Given the description of an element on the screen output the (x, y) to click on. 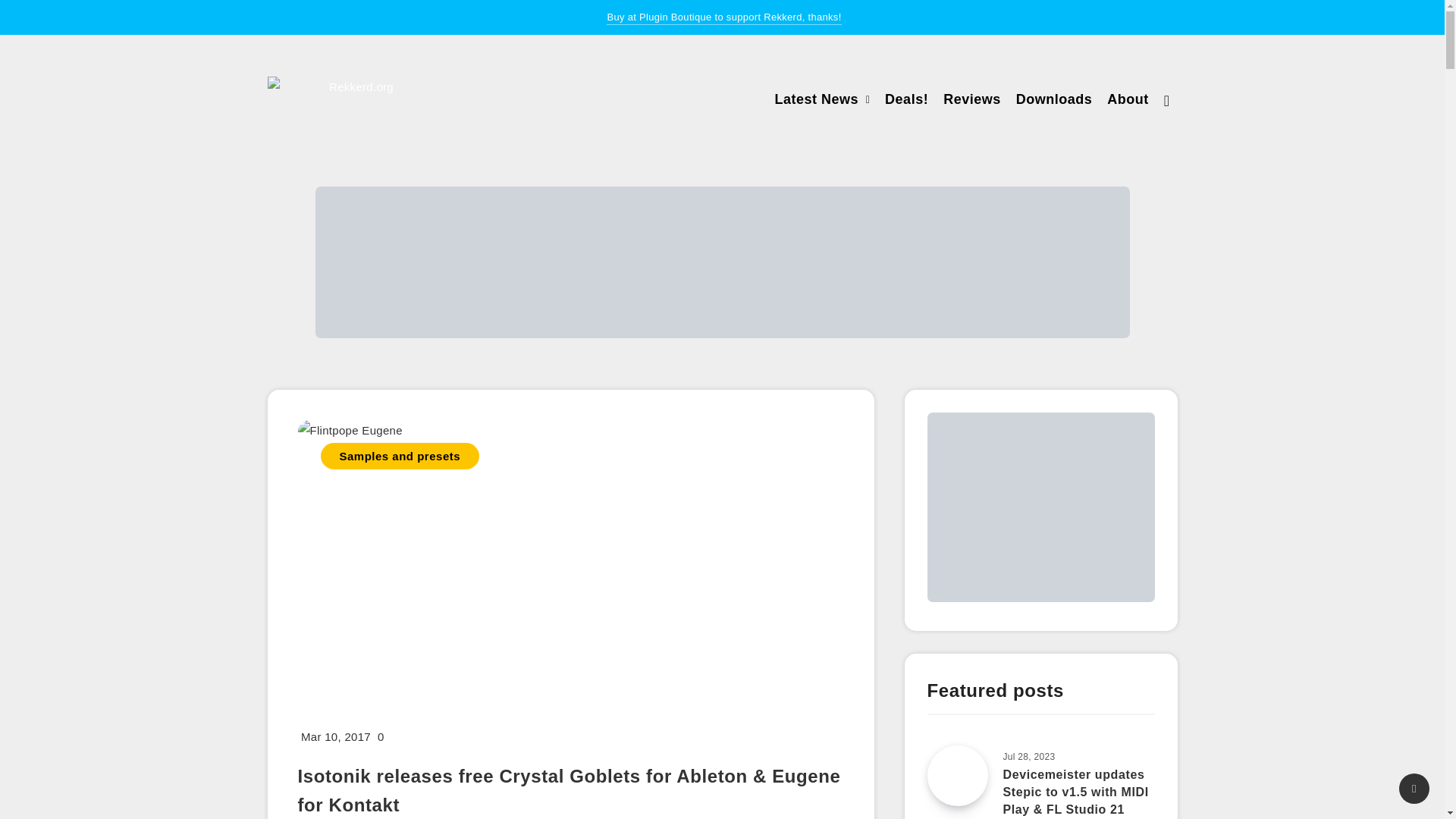
Buy at Plugin Boutique to support Rekkerd, thanks! (724, 17)
Downloads (1054, 101)
Latest News (816, 101)
About (1127, 101)
Samples and presets (399, 456)
Deals! (906, 101)
Reviews (972, 101)
